Given the description of an element on the screen output the (x, y) to click on. 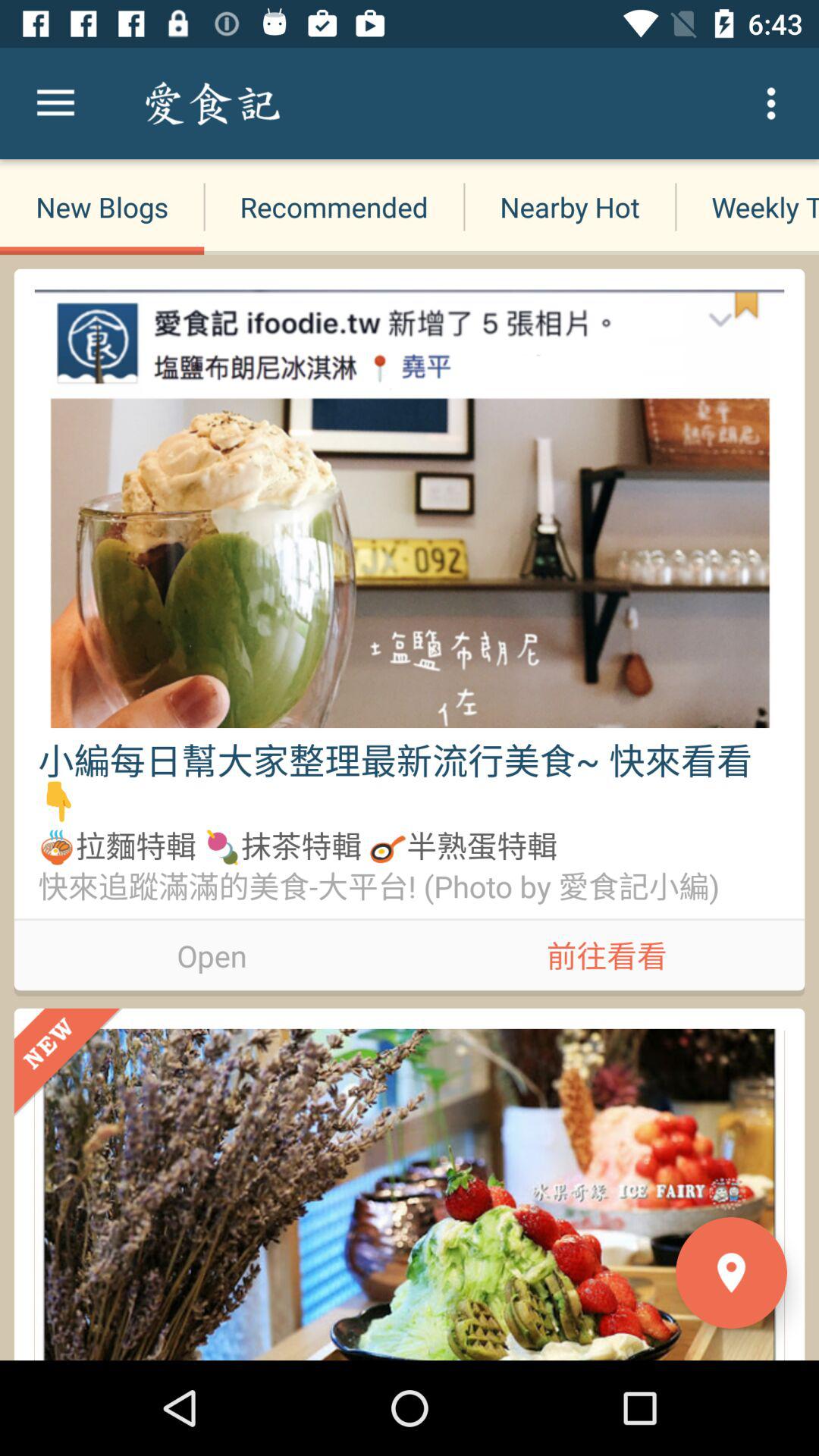
turn off the item at the bottom right corner (731, 1272)
